Given the description of an element on the screen output the (x, y) to click on. 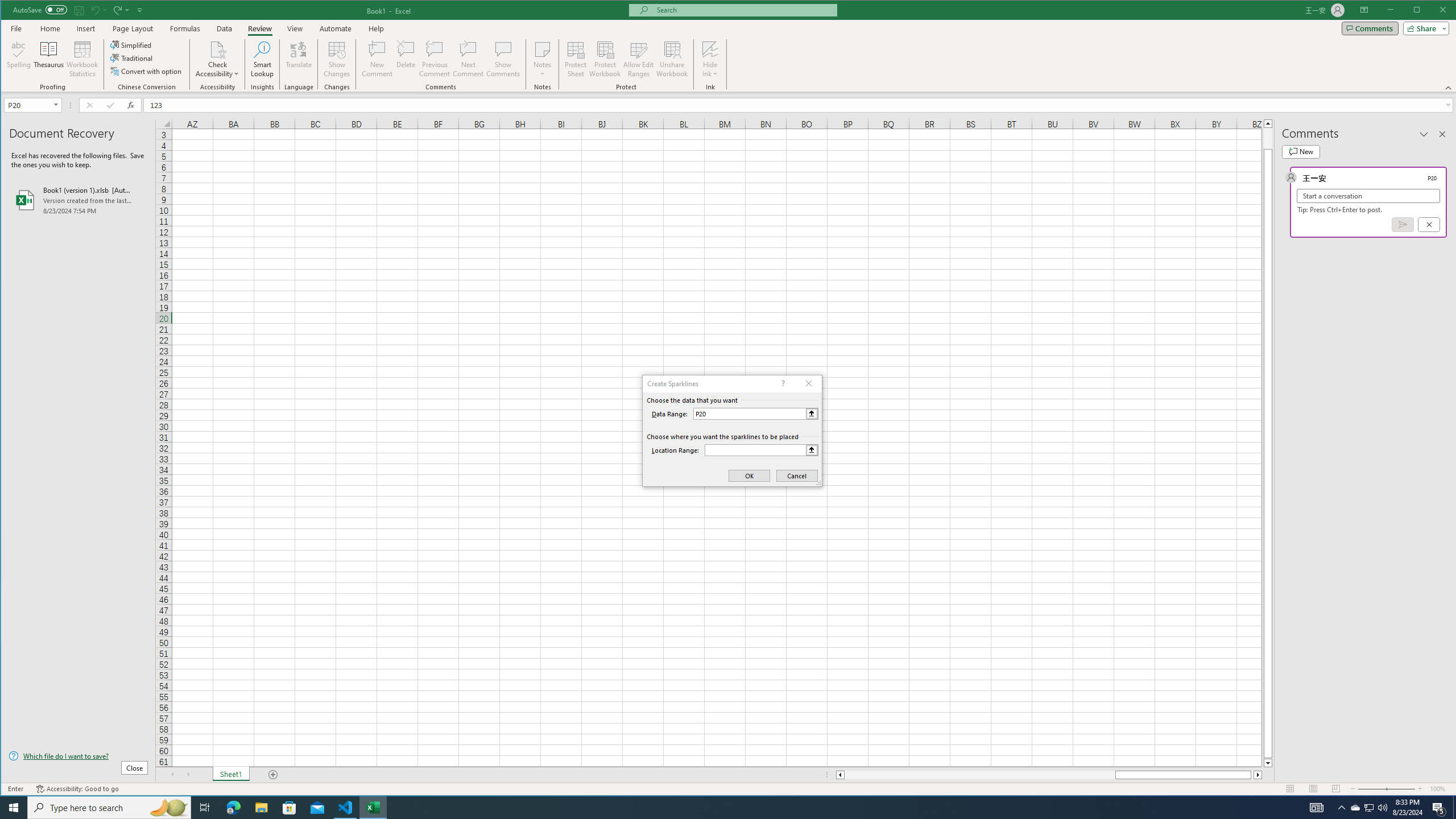
Spelling... (18, 59)
Check Accessibility (217, 48)
Notes (541, 59)
Hide Ink (710, 59)
Protect Sheet... (575, 59)
